Given the description of an element on the screen output the (x, y) to click on. 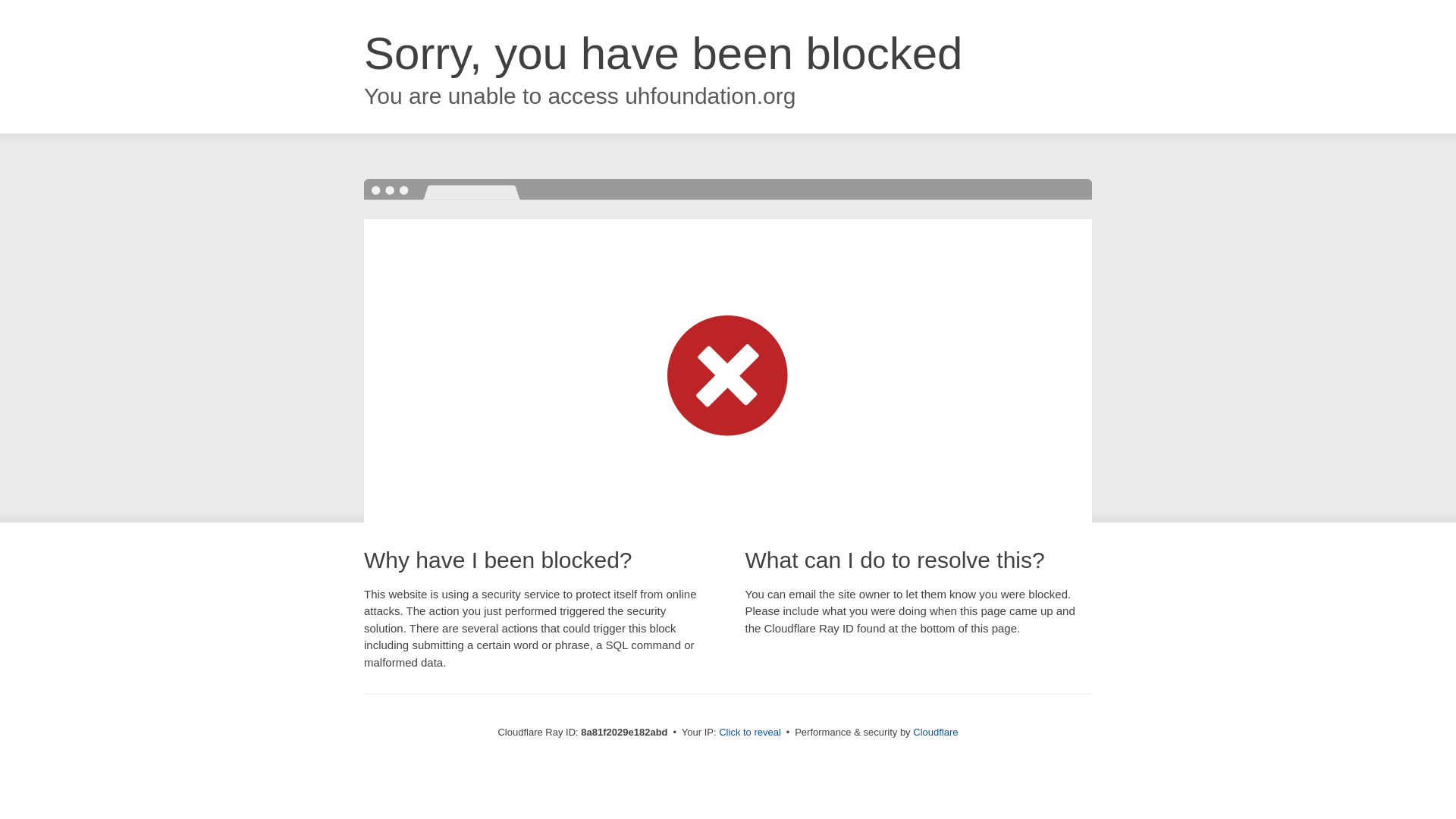
Cloudflare (935, 731)
Click to reveal (749, 732)
